Given the description of an element on the screen output the (x, y) to click on. 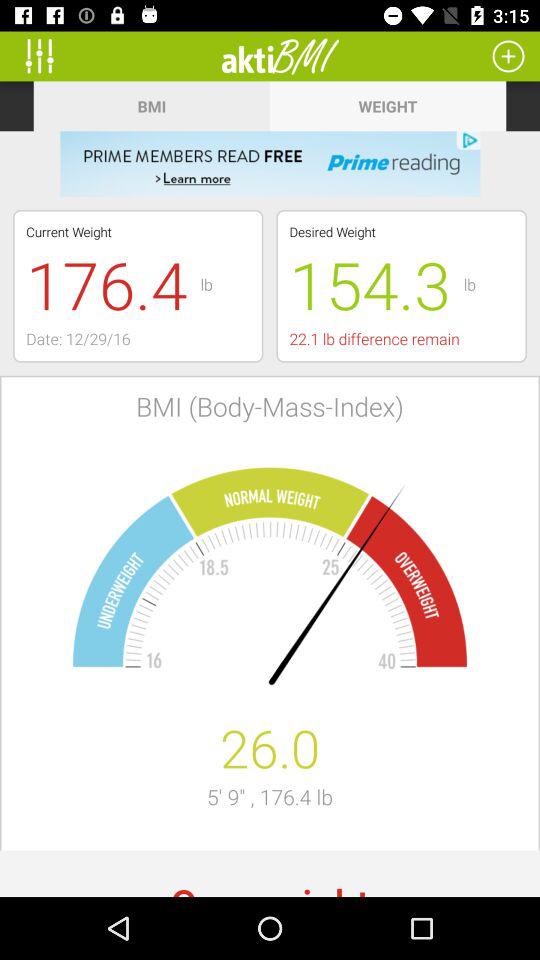
add option (508, 56)
